Given the description of an element on the screen output the (x, y) to click on. 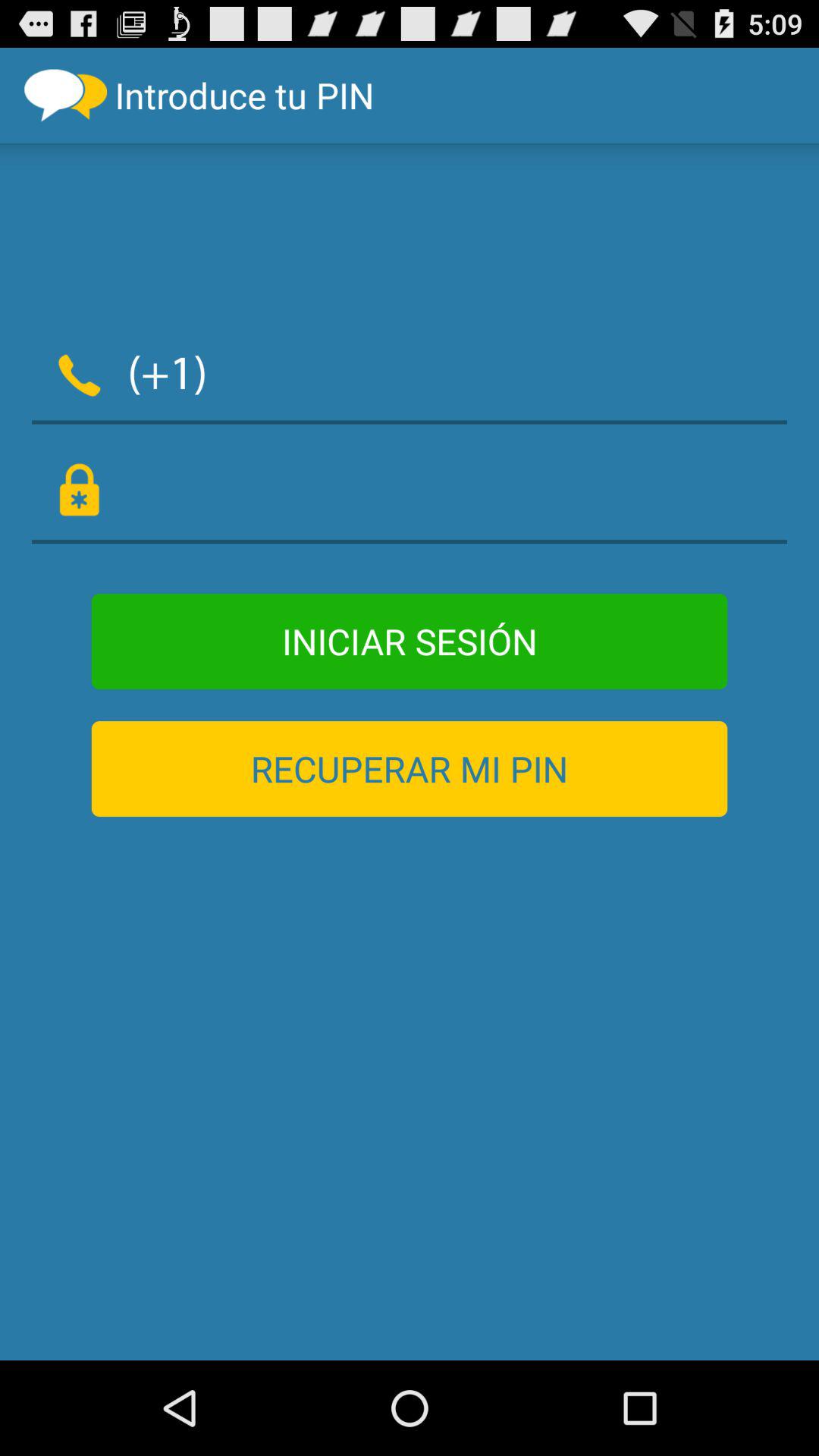
select item below introduce tu pin (507, 371)
